Given the description of an element on the screen output the (x, y) to click on. 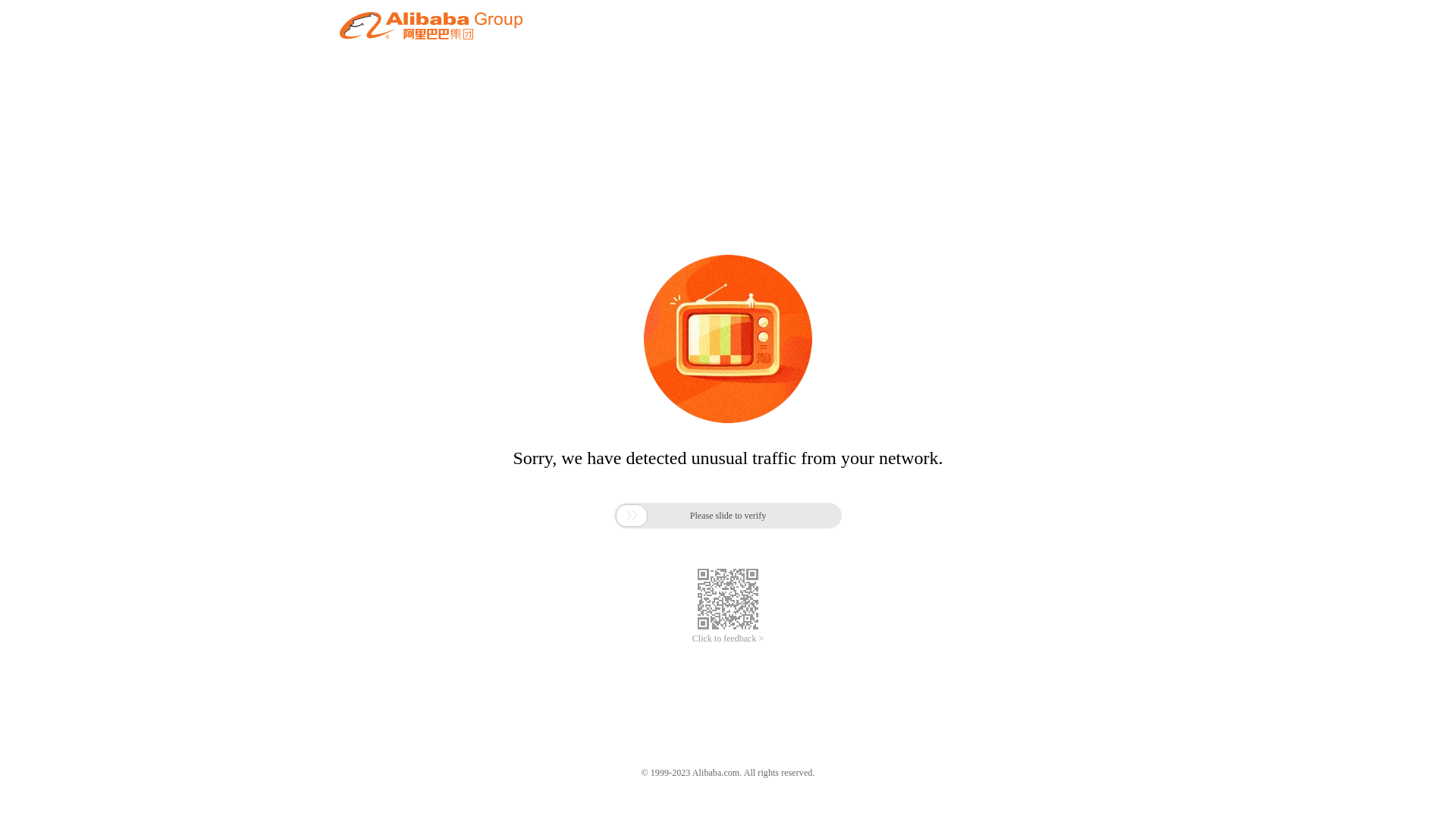
Click to feedback > Element type: text (727, 638)
